Given the description of an element on the screen output the (x, y) to click on. 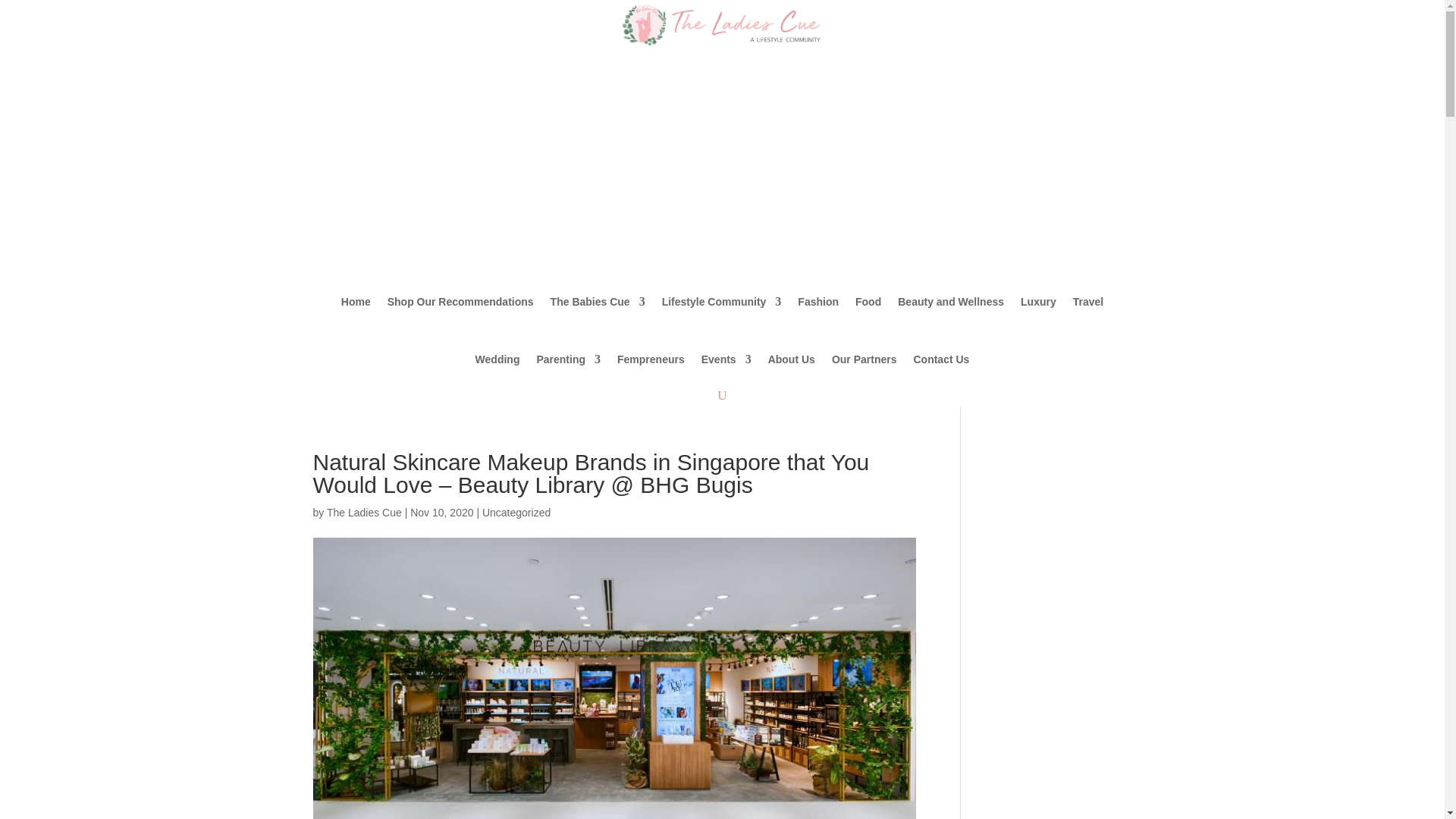
Posts by The Ladies Cue (363, 512)
The Babies Cue (597, 301)
Shop Our Recommendations (460, 301)
Fempreneurs (650, 359)
Beauty and Wellness (951, 301)
Parenting (567, 359)
Contact Us (940, 359)
Our Partners (863, 359)
Lifestyle Community (721, 301)
